Given the description of an element on the screen output the (x, y) to click on. 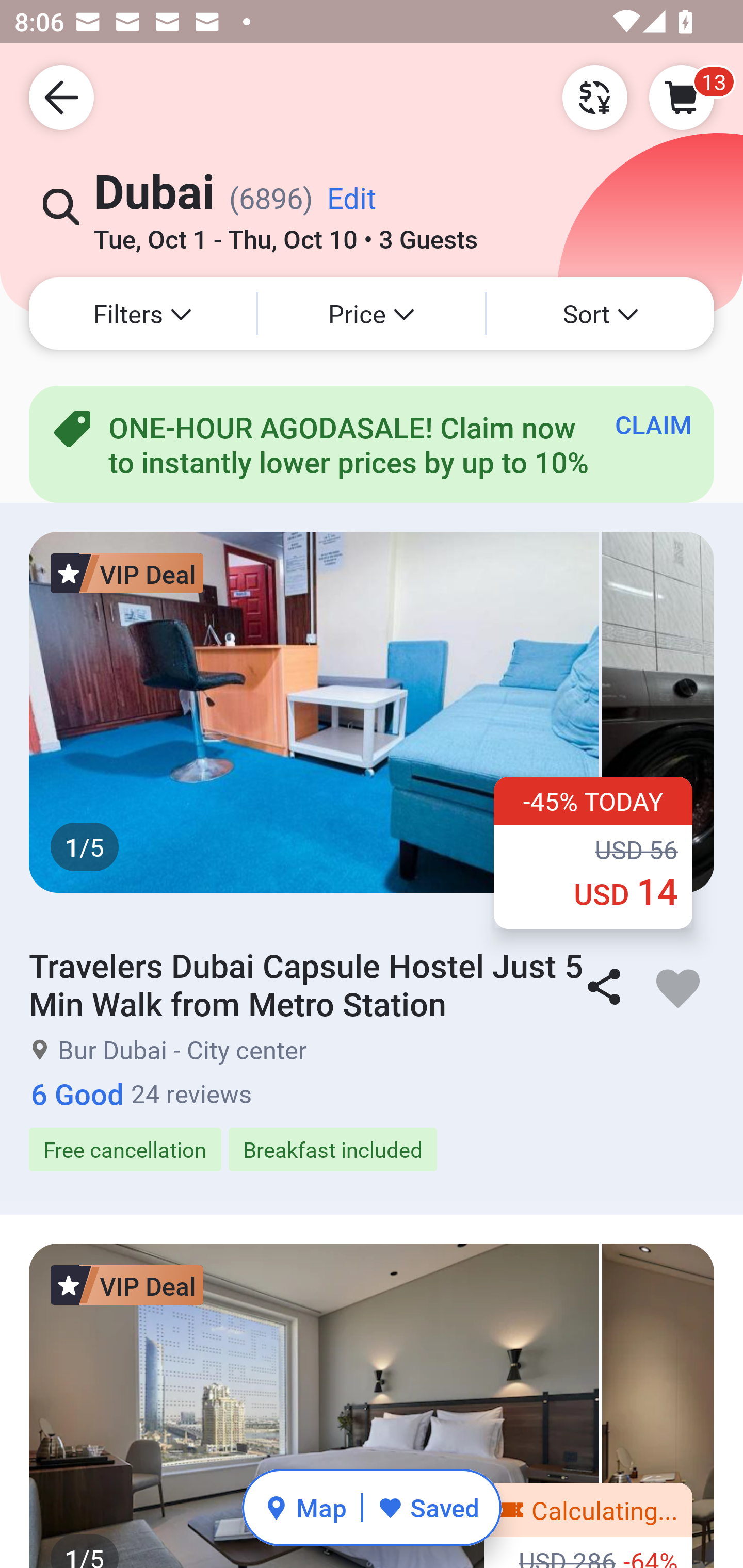
Filters (141, 313)
Price (371, 313)
Sort (600, 313)
CLAIM (653, 424)
VIP Deal (126, 572)
1/5 (371, 711)
-45% TODAY ‪USD 56 ‪USD 14 (593, 852)
Free cancellation Breakfast included (371, 1150)
VIP Deal (126, 1284)
1/5 (371, 1405)
Map (305, 1507)
Saved (428, 1507)
Calculating... ‪USD 286 -64% (588, 1525)
